Given the description of an element on the screen output the (x, y) to click on. 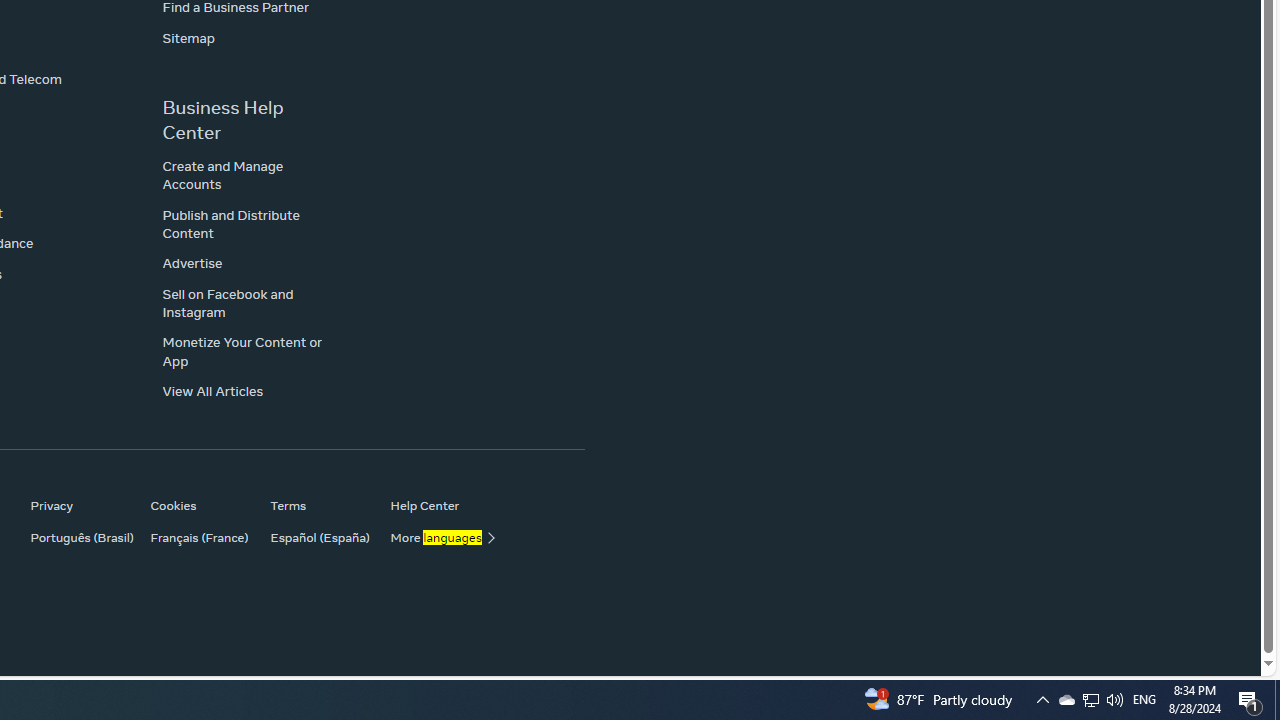
Privacy (80, 505)
More languages (440, 537)
Cookies (200, 505)
Sitemap (188, 37)
Publish and Distribute Content (230, 223)
Monetize Your Content or App (242, 351)
Sell on Facebook and Instagram (228, 303)
View All Articles (212, 391)
Create and Manage Accounts (223, 174)
Terms (320, 505)
Help Center (440, 505)
